Given the description of an element on the screen output the (x, y) to click on. 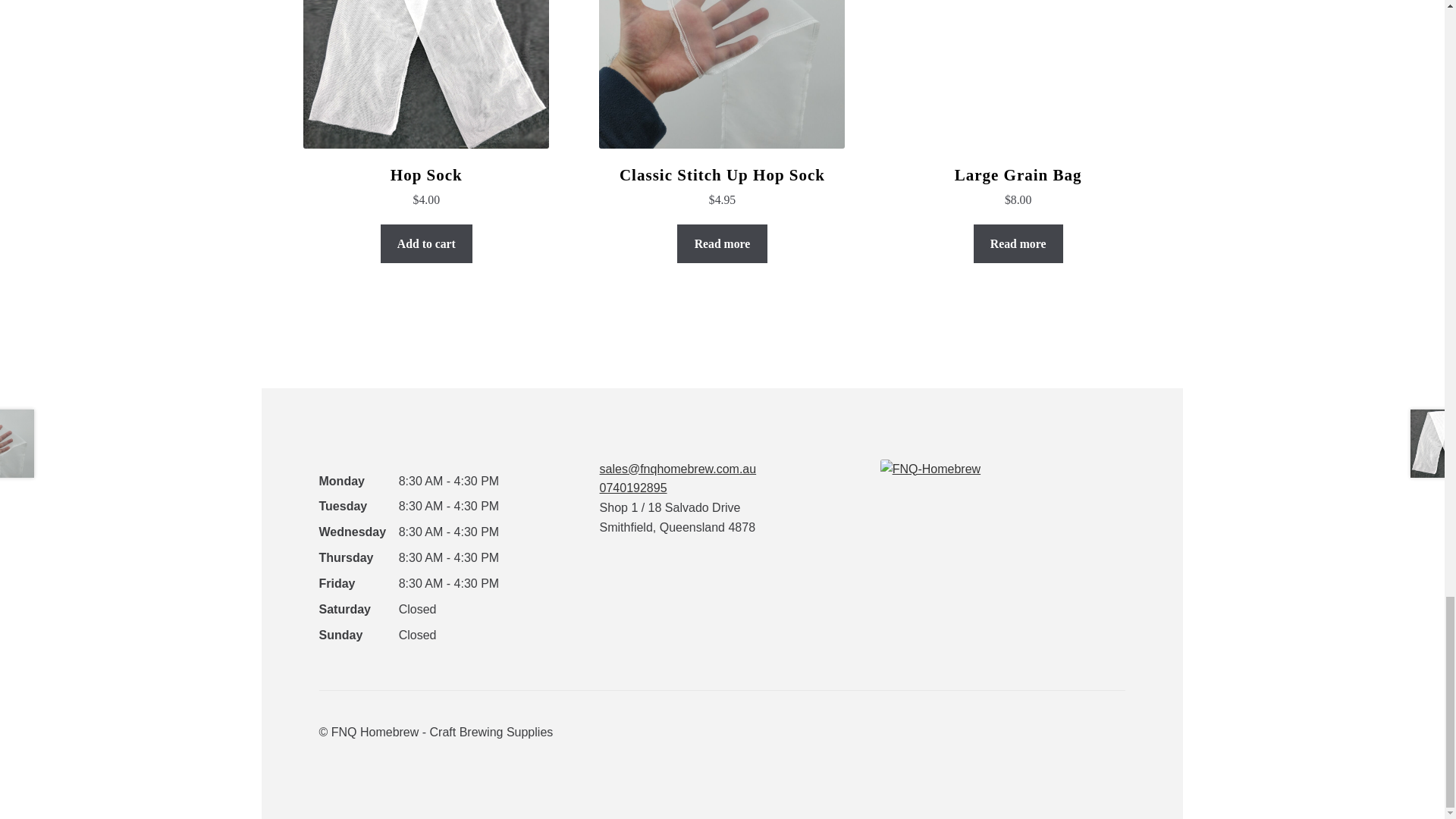
Add to cart (426, 243)
Read more (722, 243)
Read more (1018, 243)
0740192895 (632, 487)
